Given the description of an element on the screen output the (x, y) to click on. 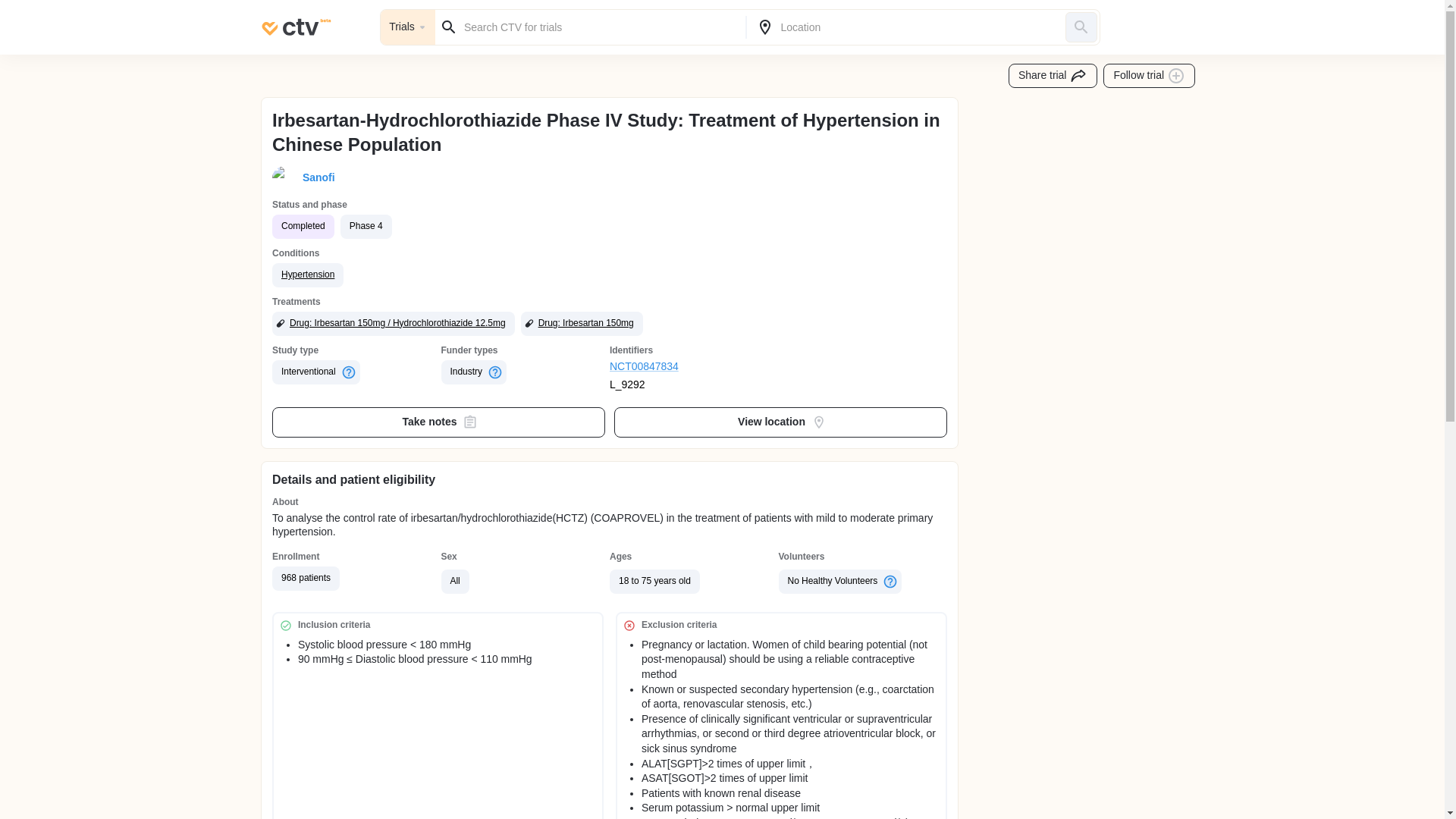
Sanofi (315, 178)
Follow trial (1149, 75)
Share trial (1053, 75)
View location (780, 422)
Take notes (438, 422)
NCT00847834 (694, 366)
Trials (407, 27)
